Given the description of an element on the screen output the (x, y) to click on. 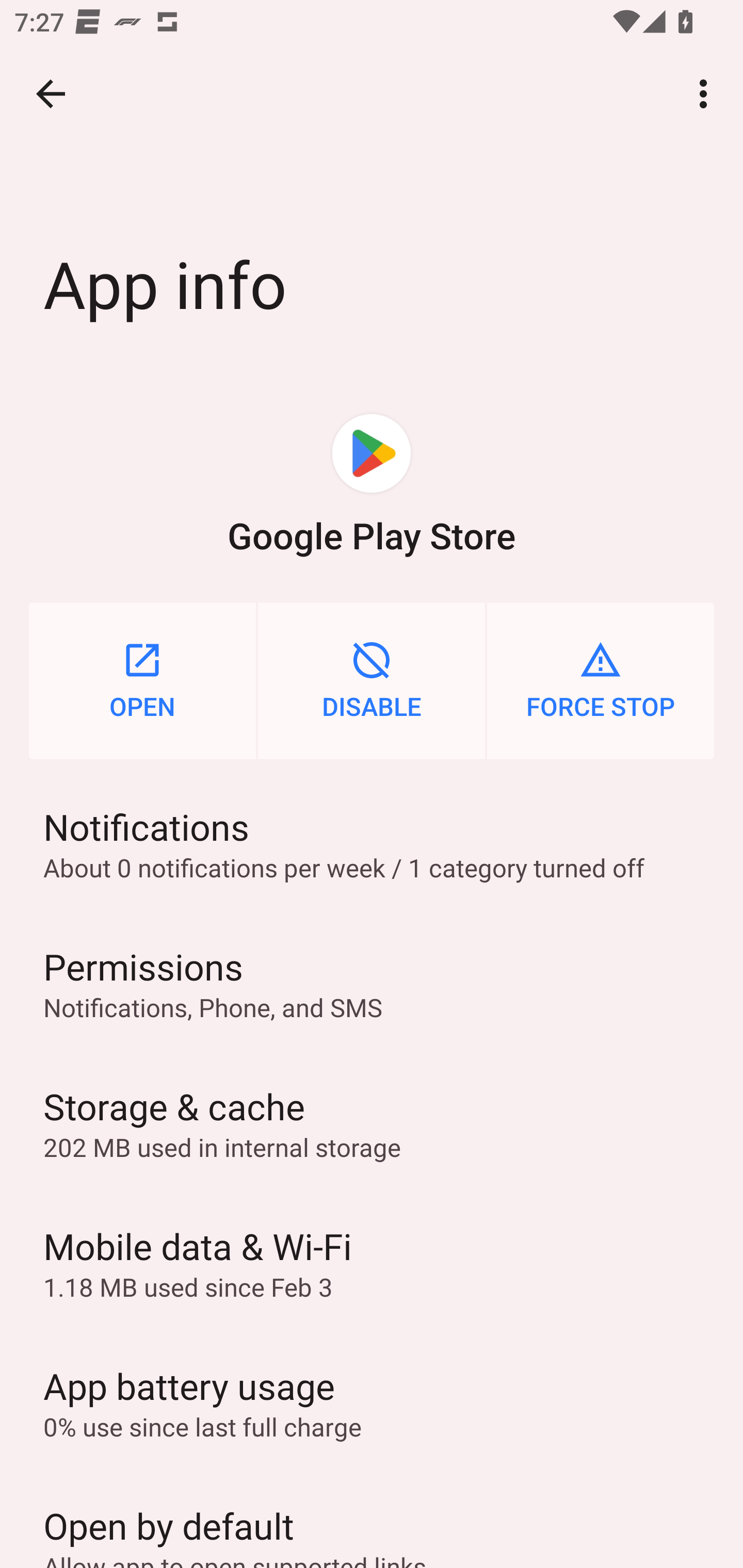
Navigate up (50, 93)
More options (706, 93)
OPEN (141, 680)
DISABLE (371, 680)
FORCE STOP (600, 680)
Permissions Notifications, Phone, and SMS (371, 983)
Storage & cache 202 MB used in internal storage (371, 1123)
Mobile data & Wi‑Fi 1.18 MB used since Feb 3 (371, 1262)
App battery usage 0% use since last full charge (371, 1402)
Open by default Allow app to open supported links (371, 1520)
